Given the description of an element on the screen output the (x, y) to click on. 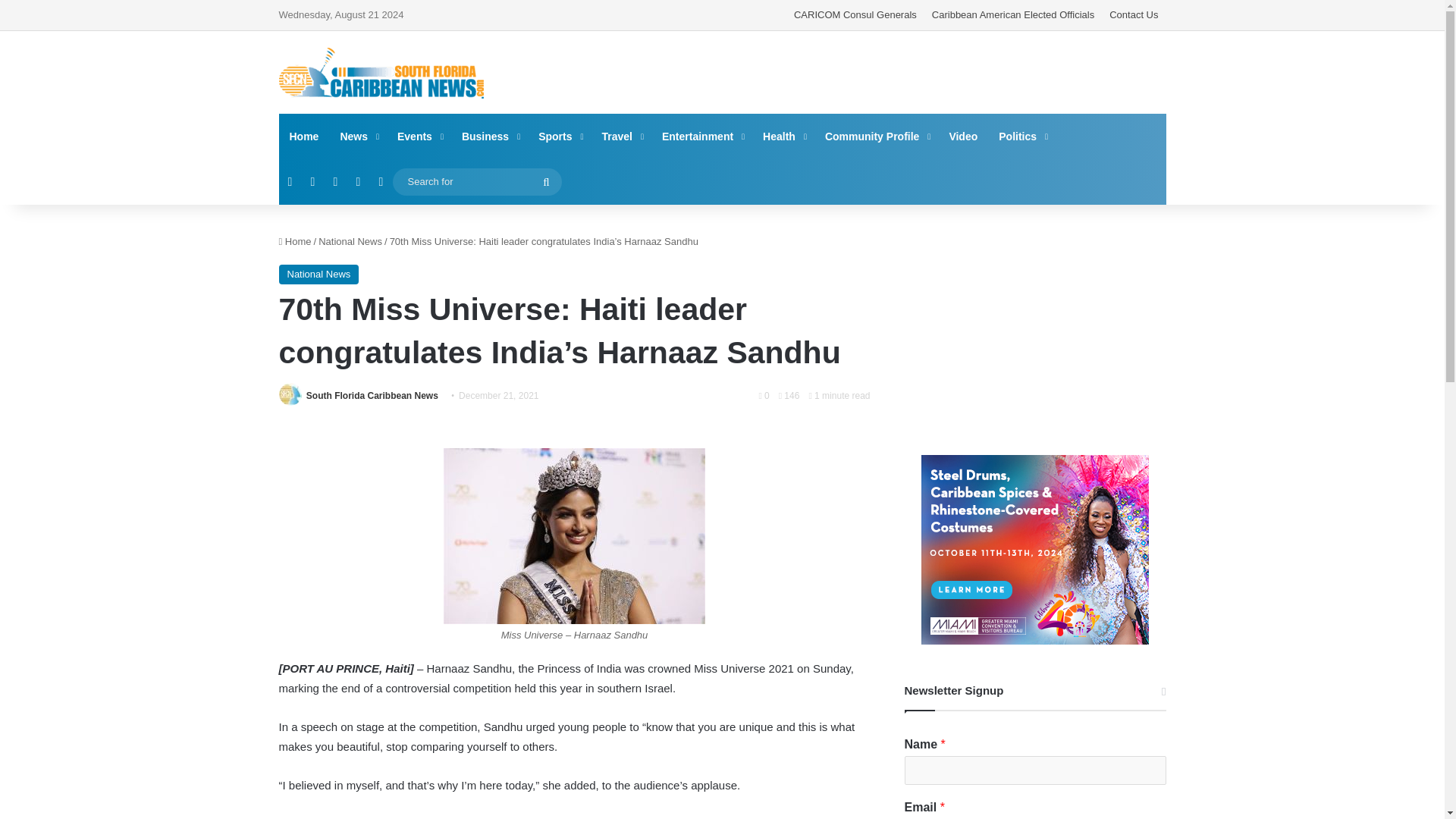
Sports (559, 135)
Home (295, 241)
Video (962, 135)
South Florida Caribbean News (371, 395)
3rd party ad content (873, 70)
News (358, 135)
Politics (1021, 135)
Community Profile (875, 135)
Search for (477, 181)
Caribbean American Elected Officials (1013, 15)
